Given the description of an element on the screen output the (x, y) to click on. 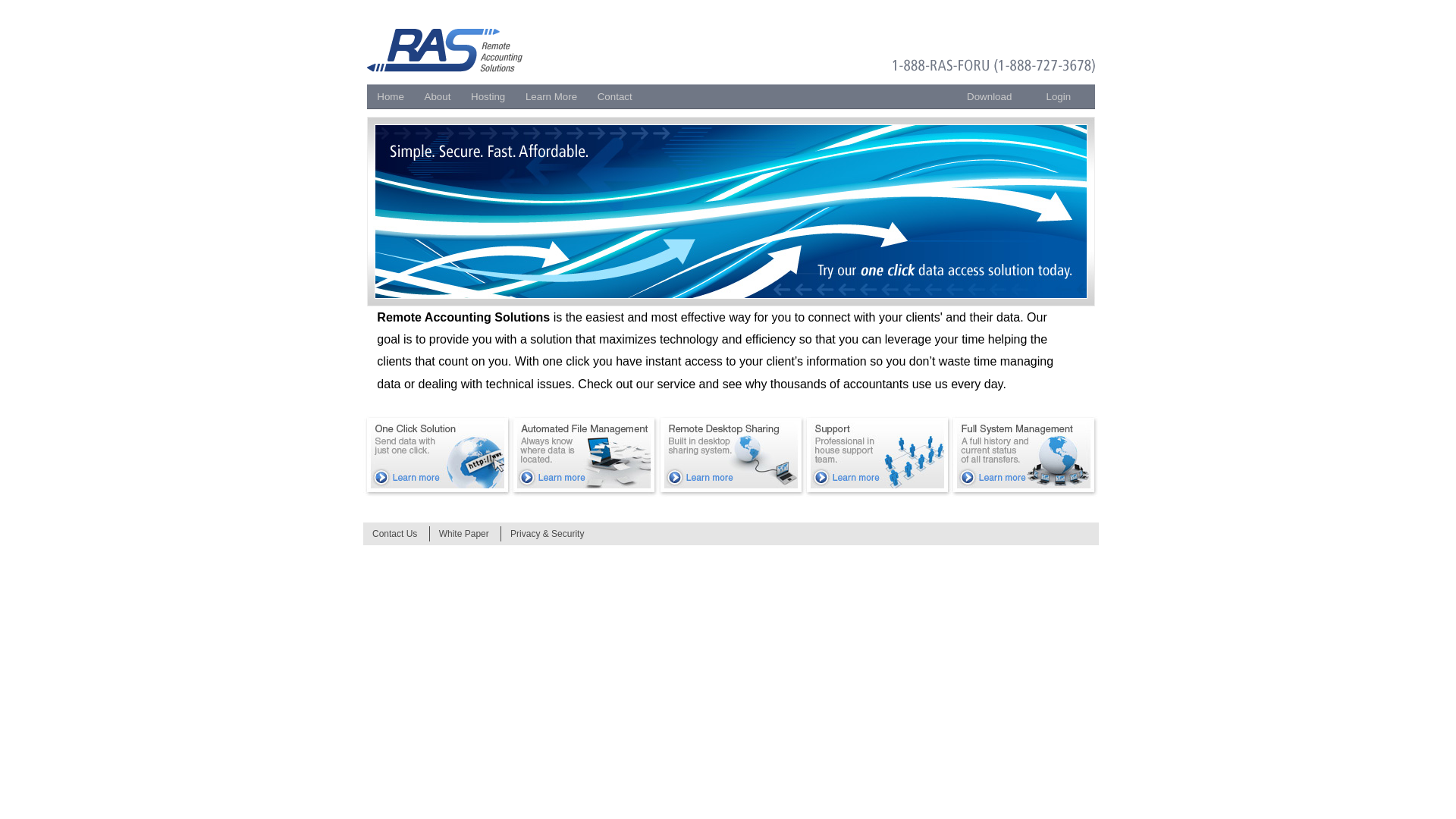
White Paper (464, 533)
Home (389, 96)
Hosting (488, 96)
Login      (1064, 96)
Contact (614, 96)
Contact Us (394, 533)
Learn More (551, 96)
About (437, 96)
Download      (995, 96)
